Given the description of an element on the screen output the (x, y) to click on. 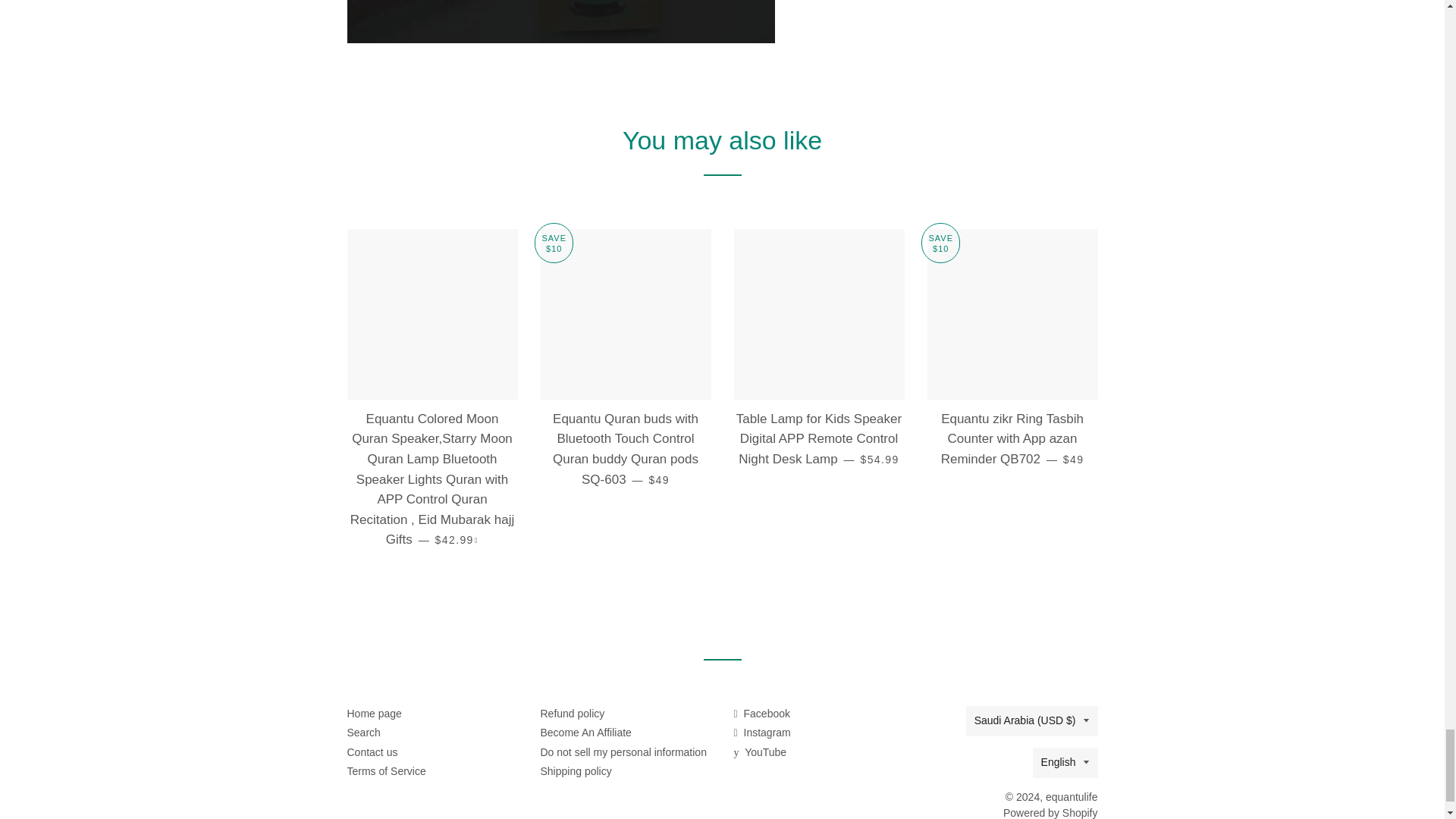
equantulife on Instagram (761, 732)
equantulife on Facebook (761, 713)
equantulife on YouTube (760, 752)
